Given the description of an element on the screen output the (x, y) to click on. 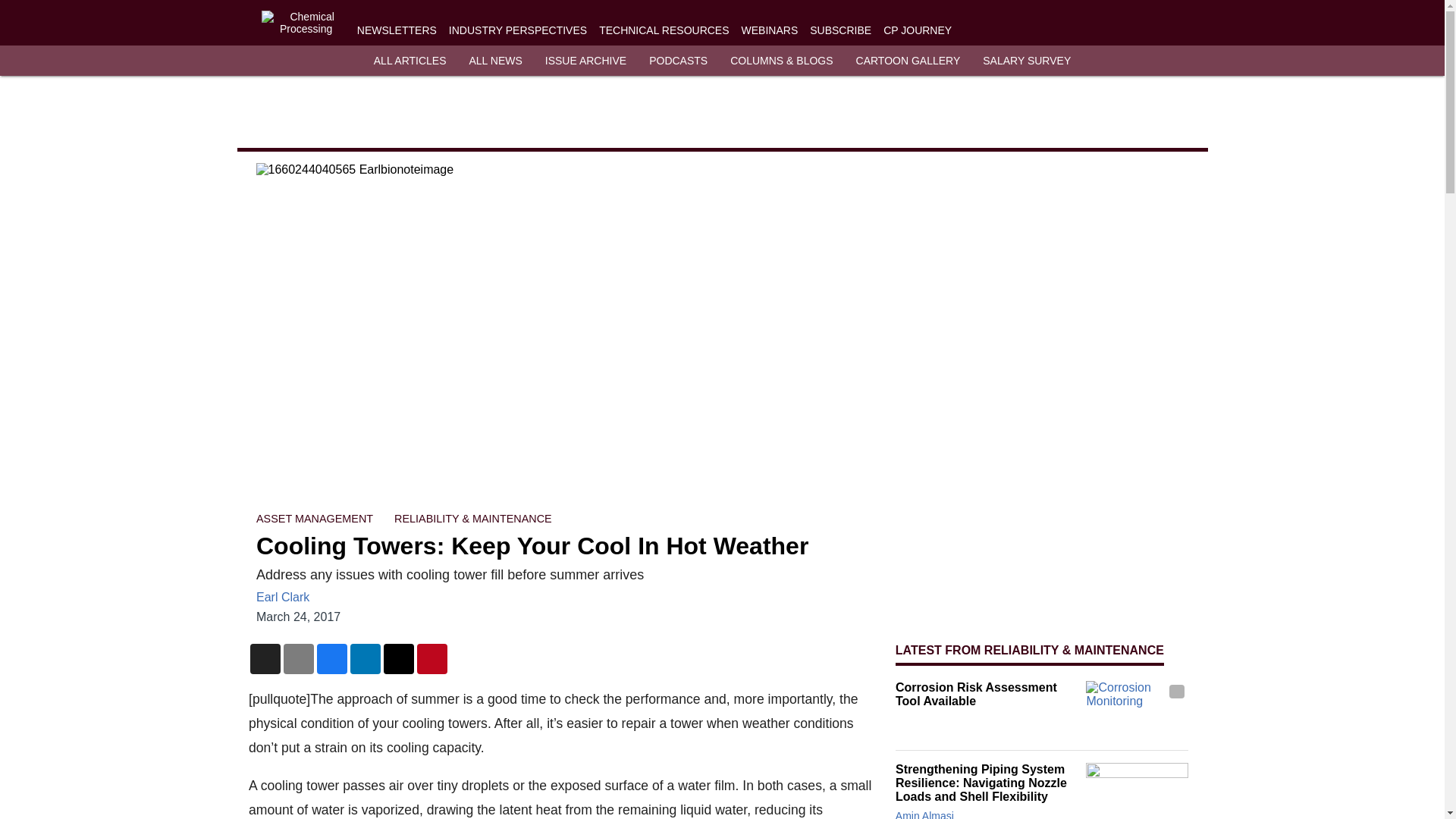
CP JOURNEY (917, 30)
ISSUE ARCHIVE (585, 60)
CARTOON GALLERY (908, 60)
Corrosion Risk Assessment Tool Available (986, 694)
SALARY SURVEY (1026, 60)
Corrosion Monitoring (1137, 708)
ASSET MANAGEMENT (314, 518)
NEWSLETTERS (396, 30)
PODCASTS (678, 60)
SUBSCRIBE (839, 30)
Earl Clark (282, 595)
INDUSTRY PERSPECTIVES (517, 30)
TECHNICAL RESOURCES (663, 30)
ALL ARTICLES (410, 60)
ALL NEWS (494, 60)
